Given the description of an element on the screen output the (x, y) to click on. 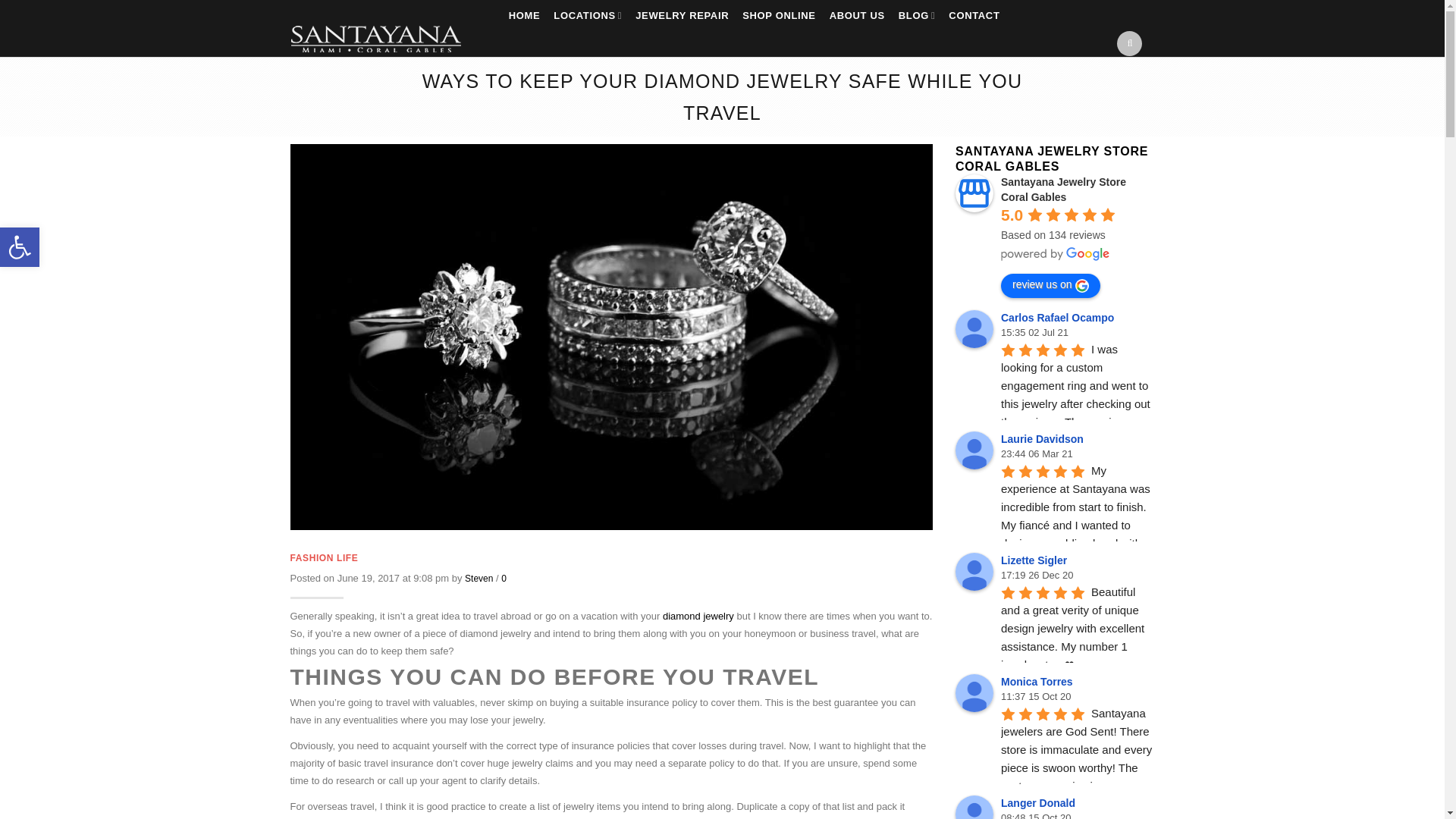
ABOUT US (856, 17)
Santayana Jewelry Store Coral Gables (973, 193)
SHOP ONLINE (778, 17)
Posts by Steven (478, 578)
LOCATIONS (587, 17)
JEWELRY REPAIR (681, 17)
powered by Google (1055, 254)
HOME (524, 17)
BLOG (916, 17)
